Given the description of an element on the screen output the (x, y) to click on. 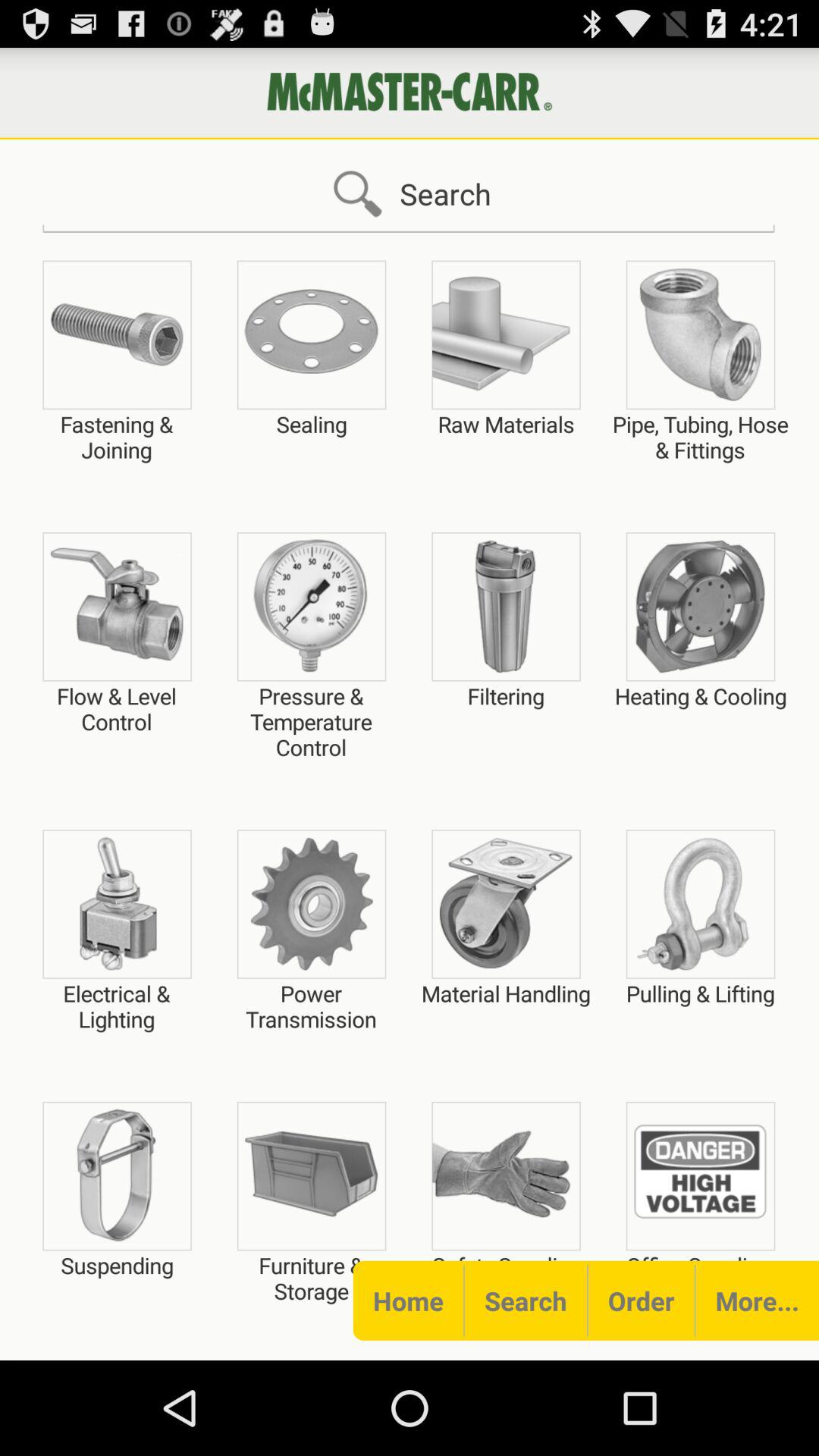
scroll to more... item (757, 1300)
